Given the description of an element on the screen output the (x, y) to click on. 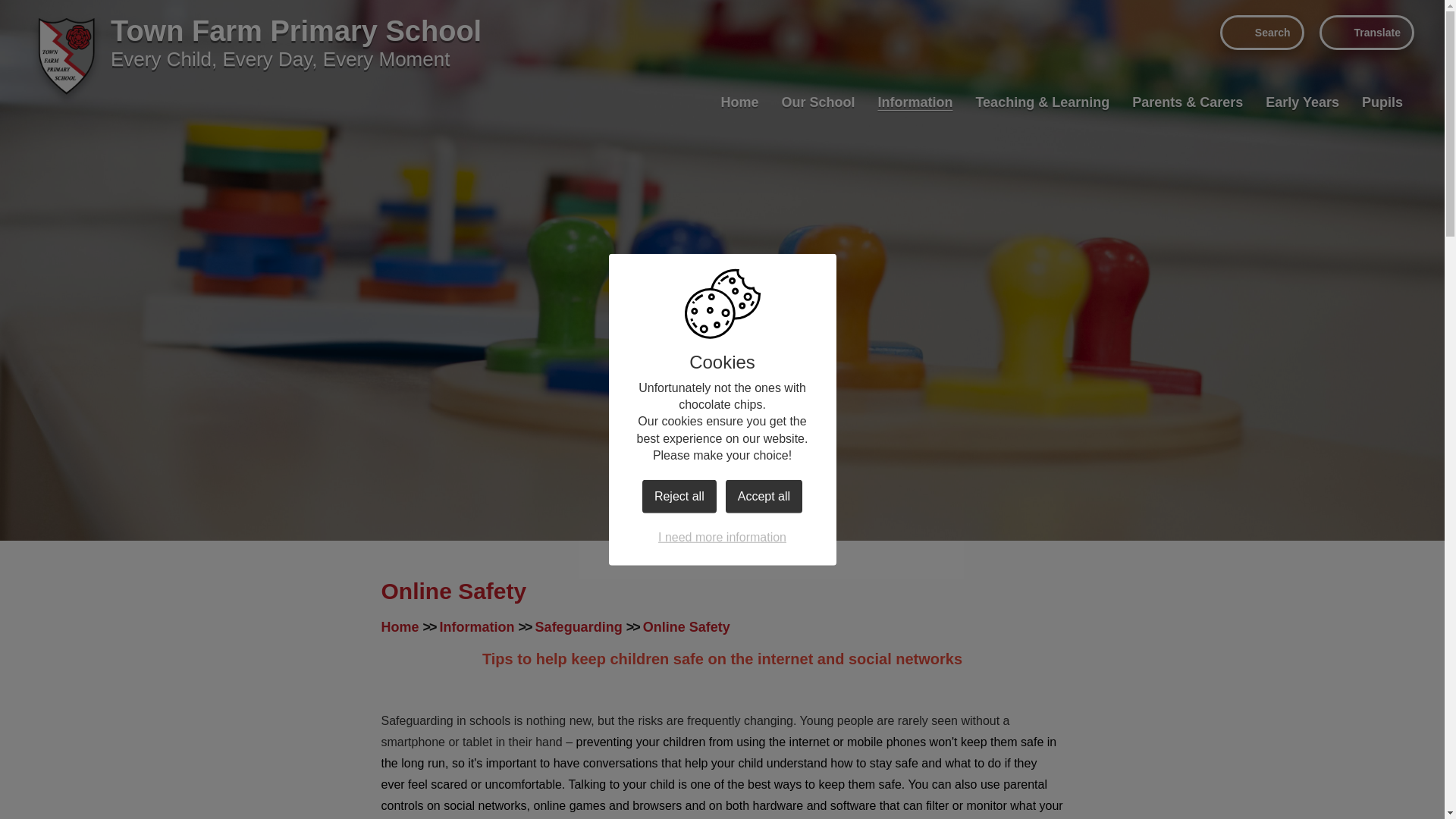
Home (739, 102)
Translate (1366, 32)
Search (1262, 32)
Our School (818, 102)
